Given the description of an element on the screen output the (x, y) to click on. 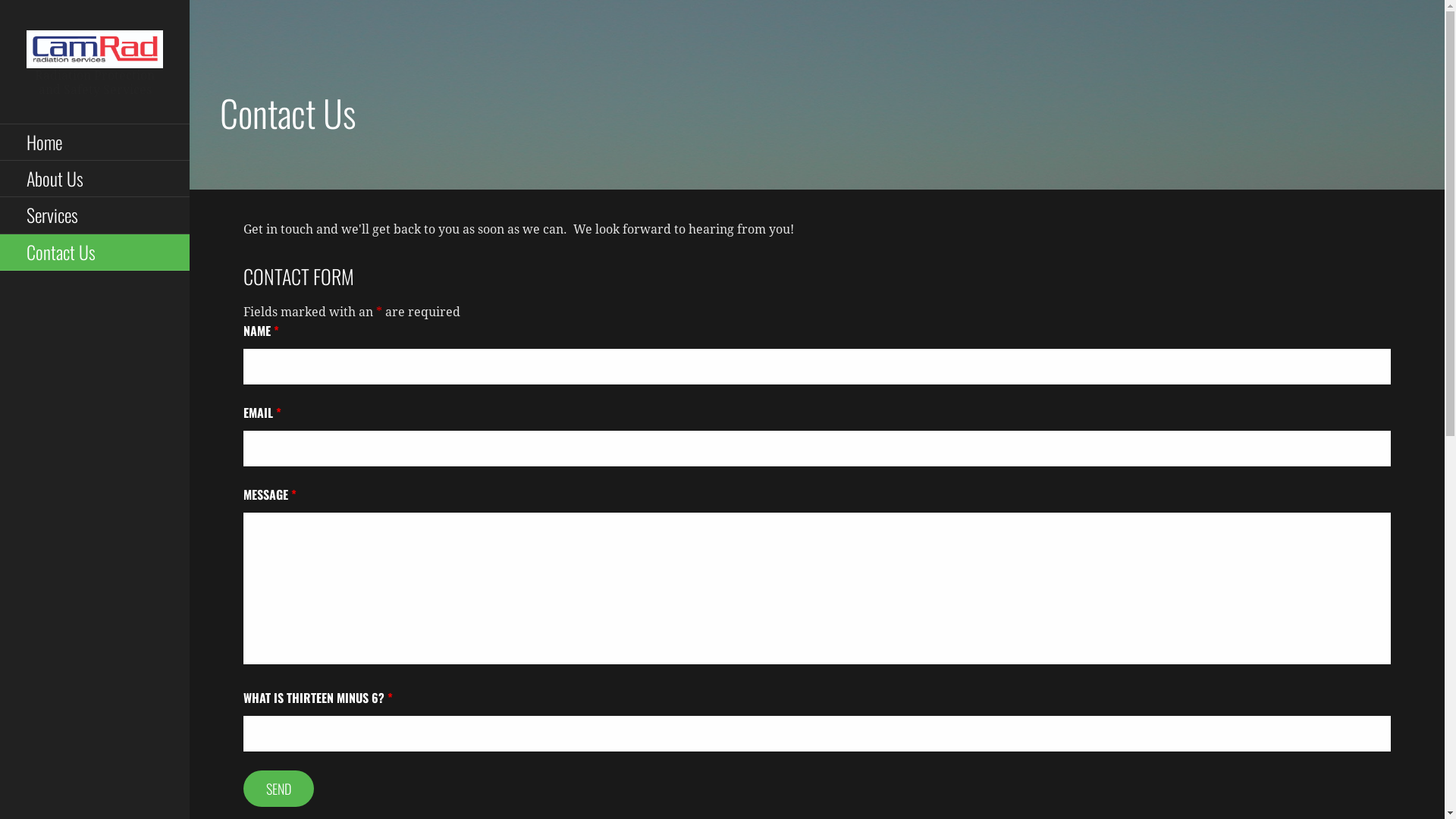
Contact Us Element type: text (94, 252)
Skip to content Element type: text (189, 0)
Services Element type: text (94, 215)
Home Element type: text (94, 142)
About Us Element type: text (94, 178)
